Given the description of an element on the screen output the (x, y) to click on. 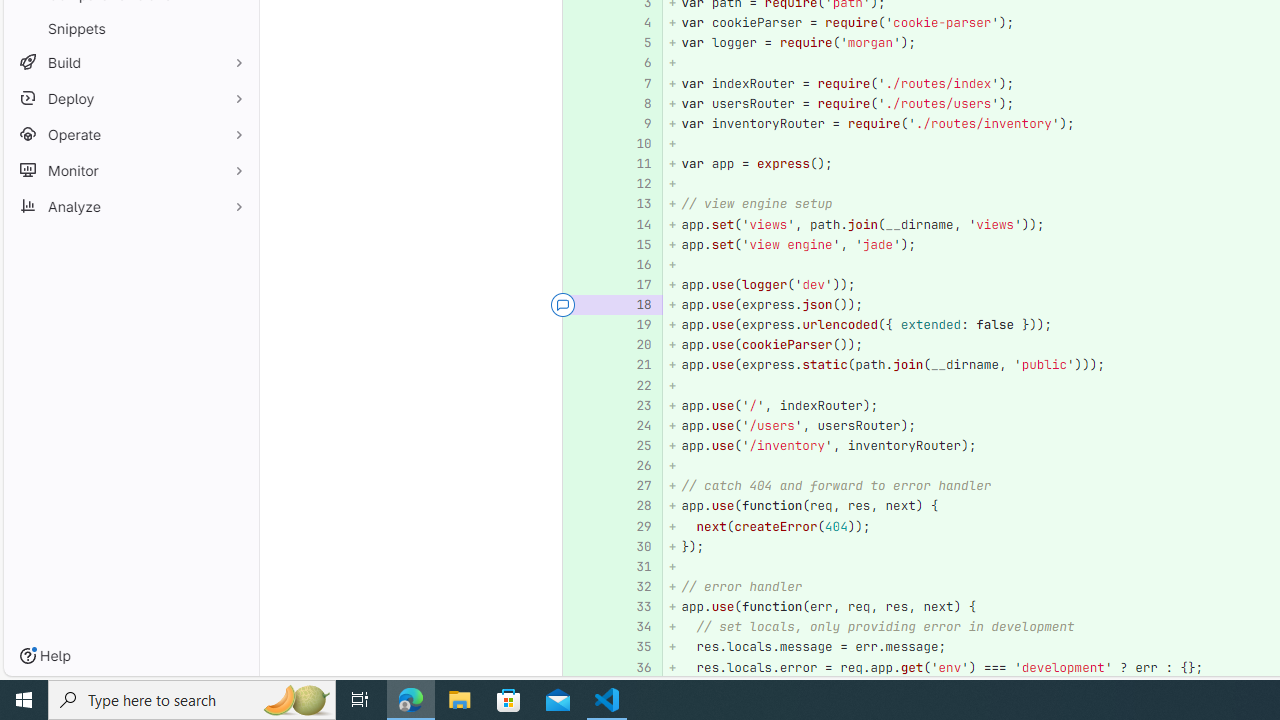
33 (637, 606)
28 (637, 506)
8 (637, 102)
19 (633, 325)
19 (637, 325)
24 (637, 425)
20 (633, 344)
10 (637, 143)
12 (633, 184)
27 (637, 485)
16 (637, 264)
8 (633, 102)
6 (637, 63)
11 (633, 164)
12 (637, 184)
